Given the description of an element on the screen output the (x, y) to click on. 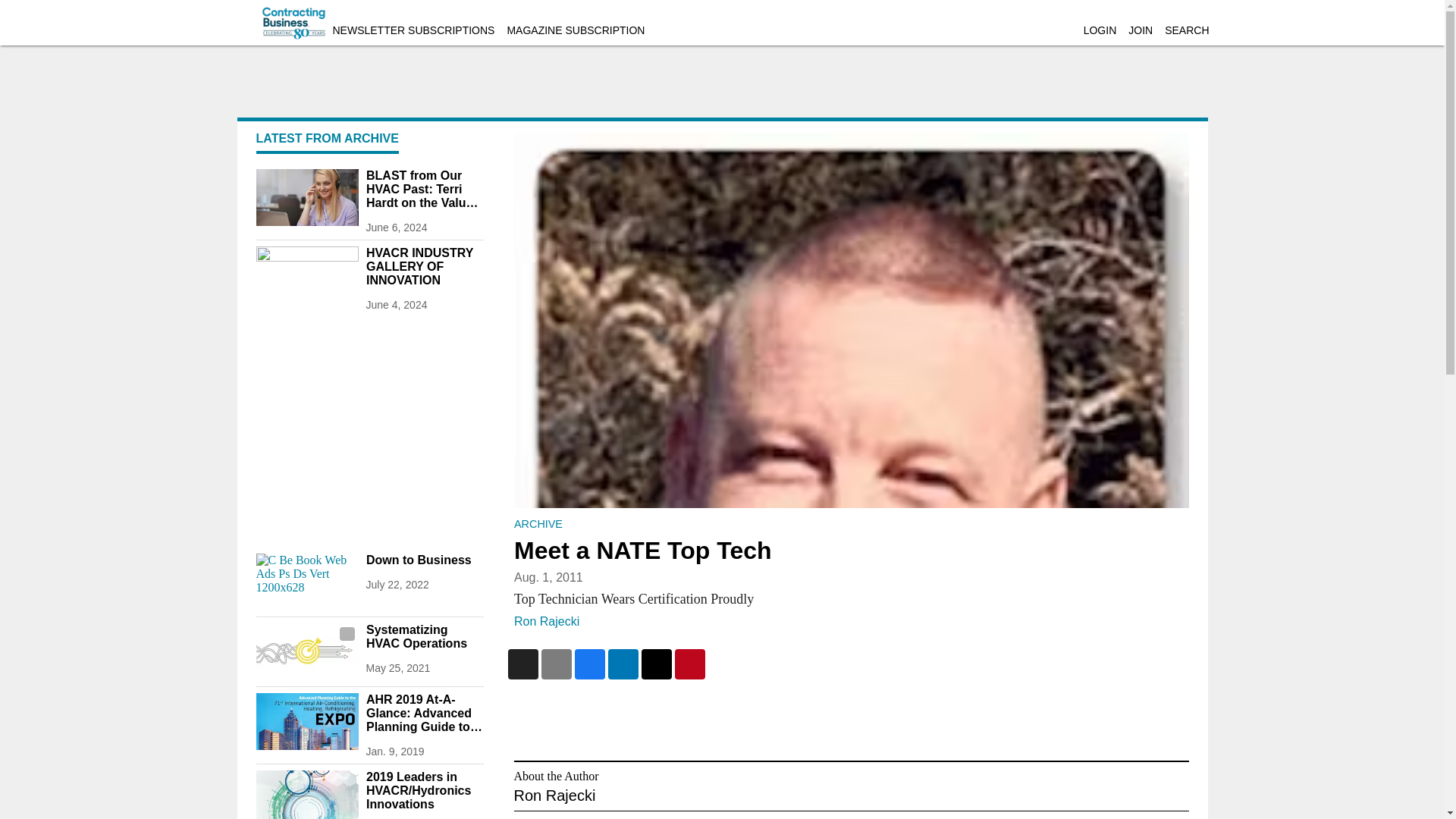
JOIN (1140, 30)
MAGAZINE SUBSCRIPTION (575, 30)
LOGIN (1099, 30)
Systematizing (307, 651)
print (307, 721)
NEWSLETTER SUBSCRIPTIONS (413, 30)
SEARCH (1186, 30)
print (307, 794)
C Be Book Web Ads Ps Ds Vert 1200x628 (307, 581)
HVACR INDUSTRY GALLERY OF INNOVATION (424, 266)
